Given the description of an element on the screen output the (x, y) to click on. 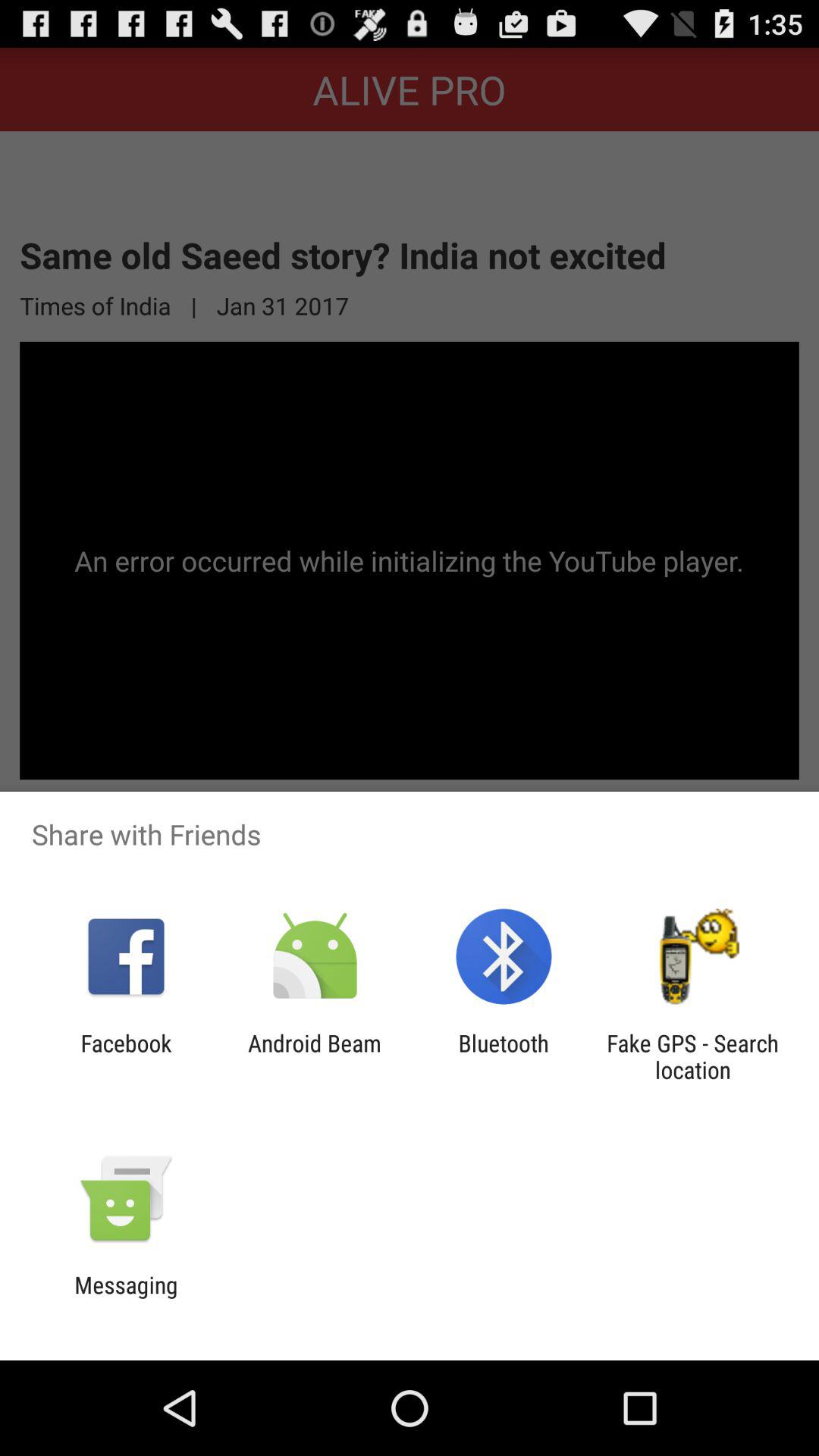
turn off item to the right of the bluetooth item (692, 1056)
